Given the description of an element on the screen output the (x, y) to click on. 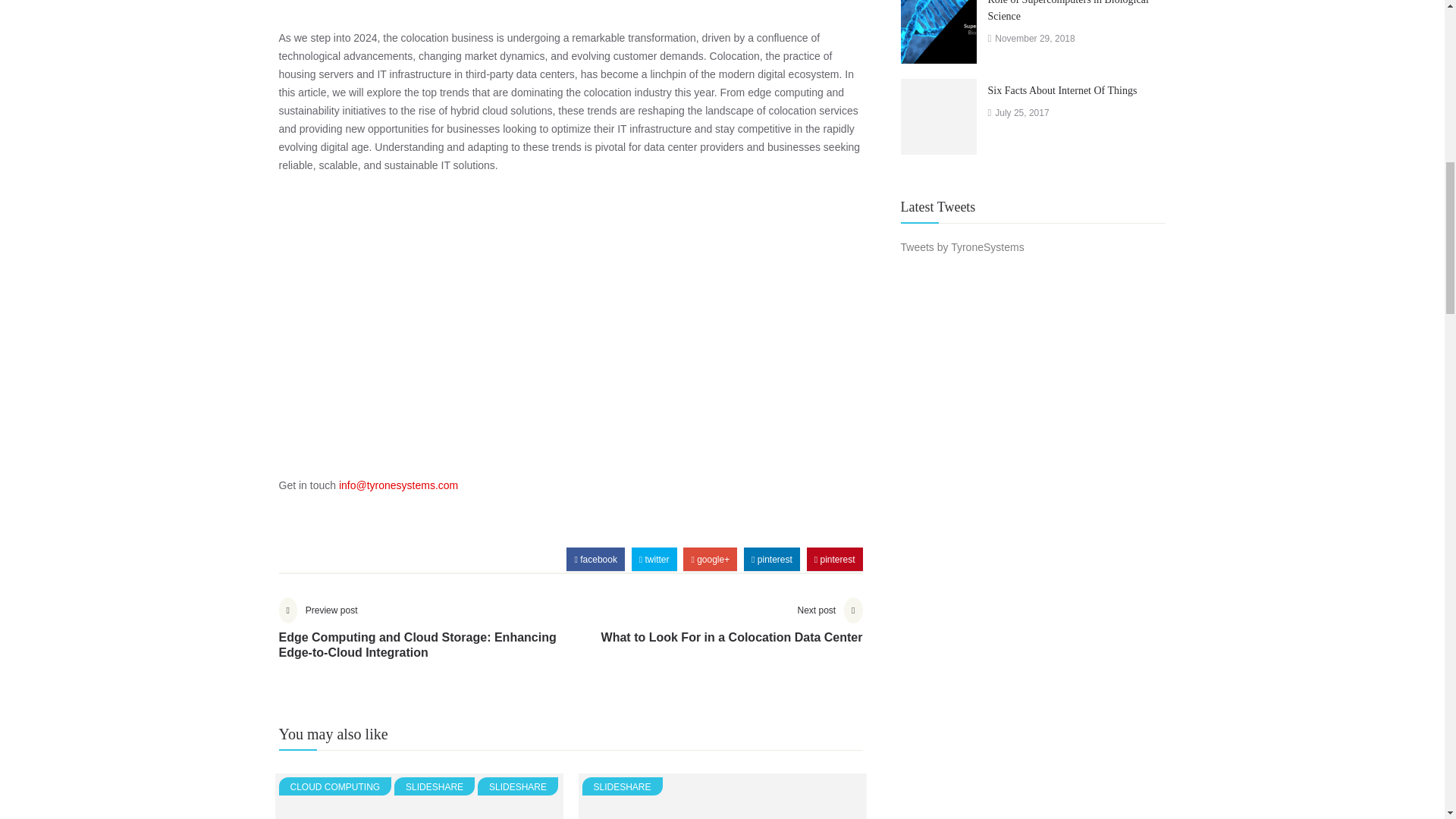
twitter (654, 559)
prev post (424, 639)
next post (732, 632)
facebook (594, 559)
pinterest (834, 559)
